Given the description of an element on the screen output the (x, y) to click on. 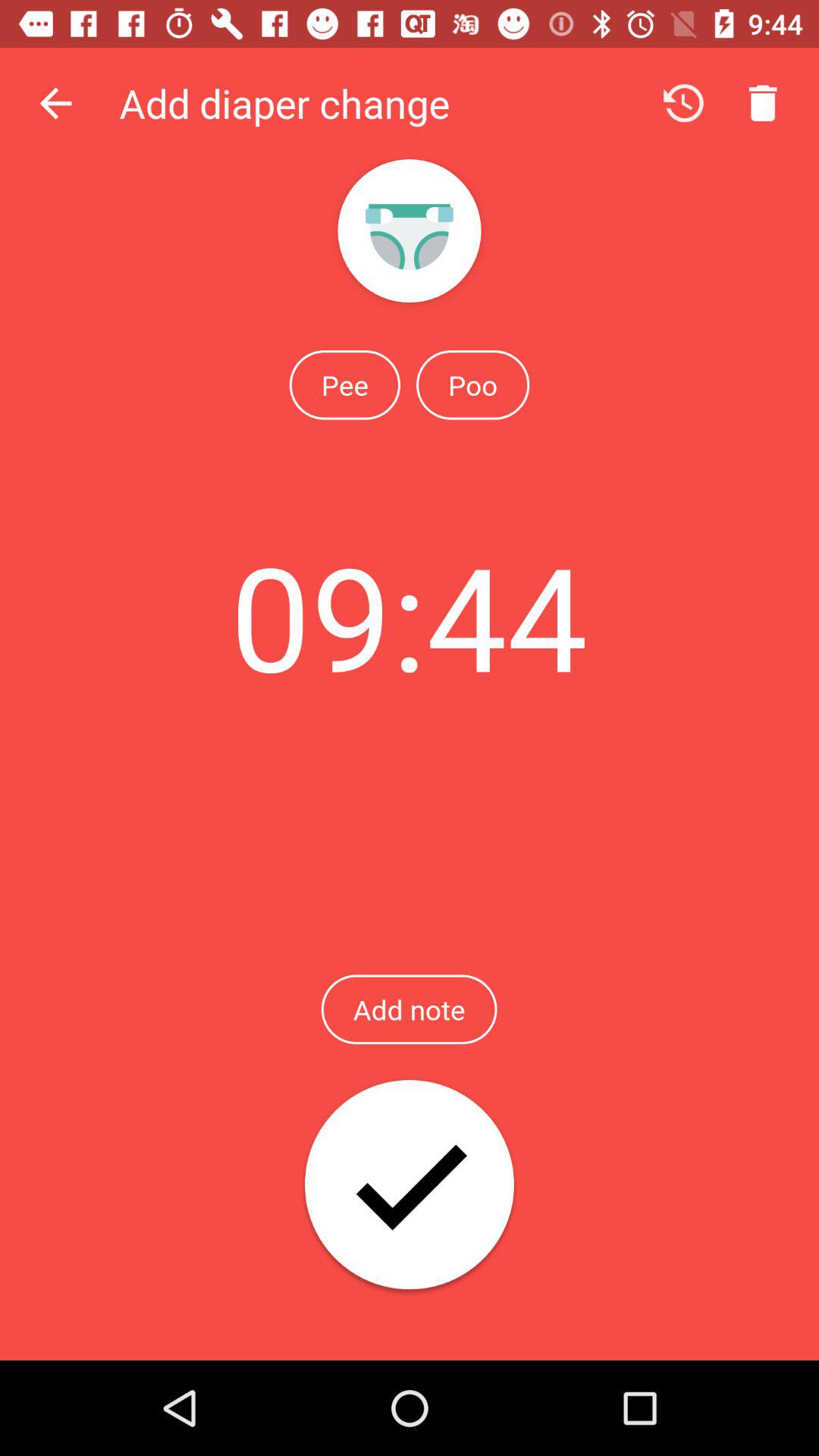
click app to the left of the add diaper change (55, 103)
